Given the description of an element on the screen output the (x, y) to click on. 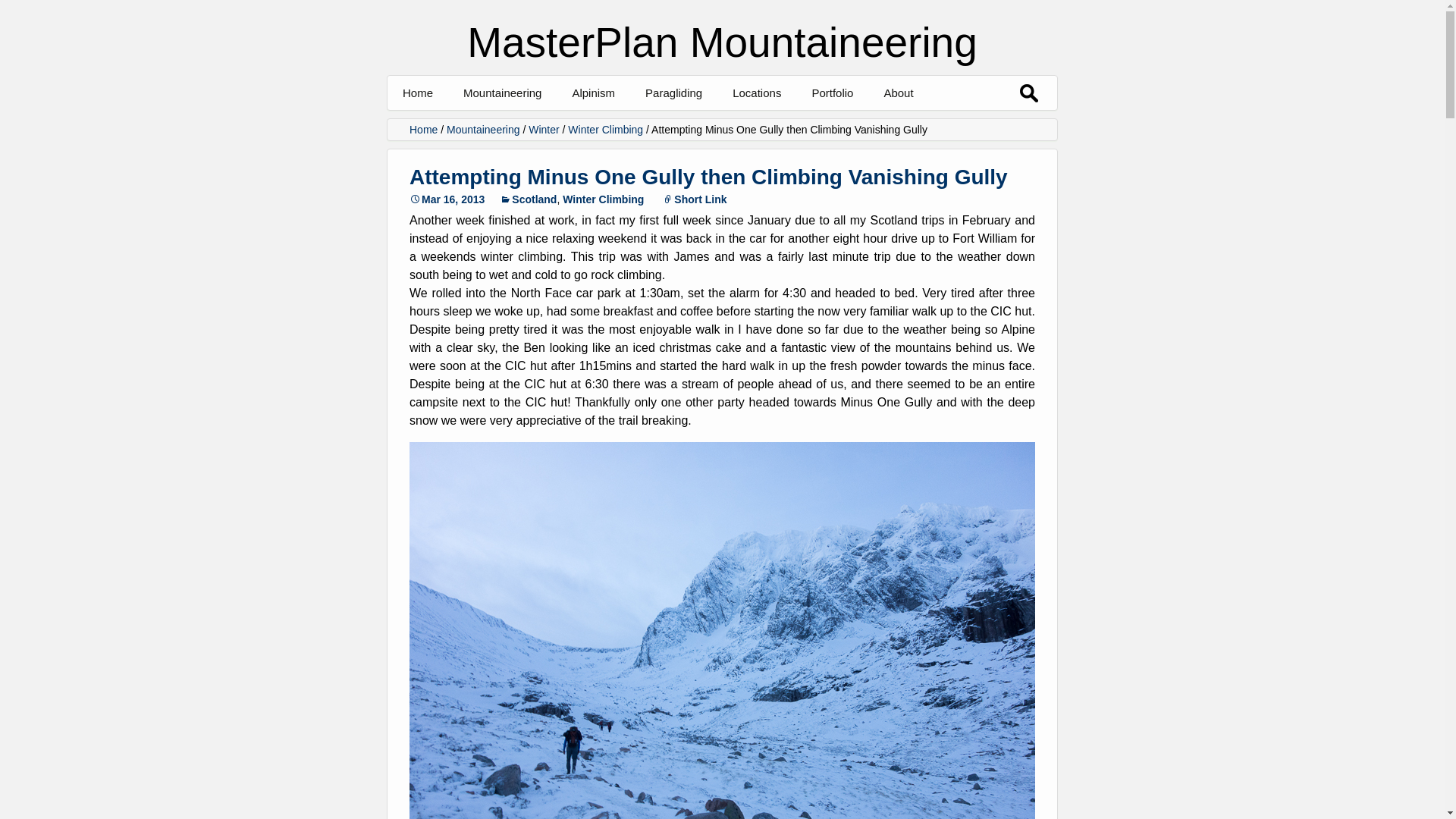
Alpinism (593, 92)
Blog (647, 126)
About (897, 92)
About (958, 126)
North Wales (808, 126)
Climbing-Alpine (887, 126)
Locations (756, 92)
Portfolio (831, 92)
Paragliding (673, 92)
